Given the description of an element on the screen output the (x, y) to click on. 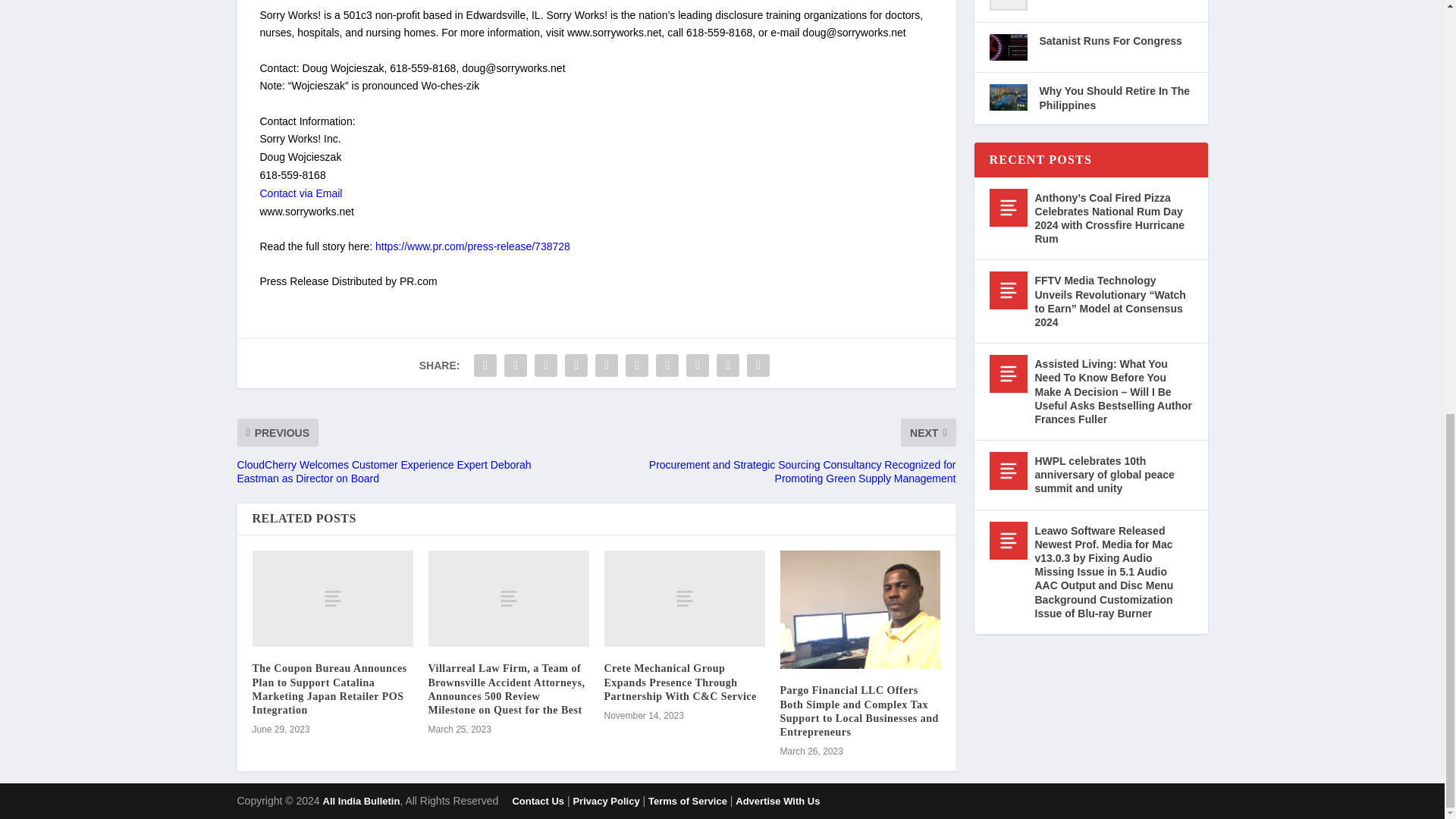
Contact via Email (300, 193)
